Given the description of an element on the screen output the (x, y) to click on. 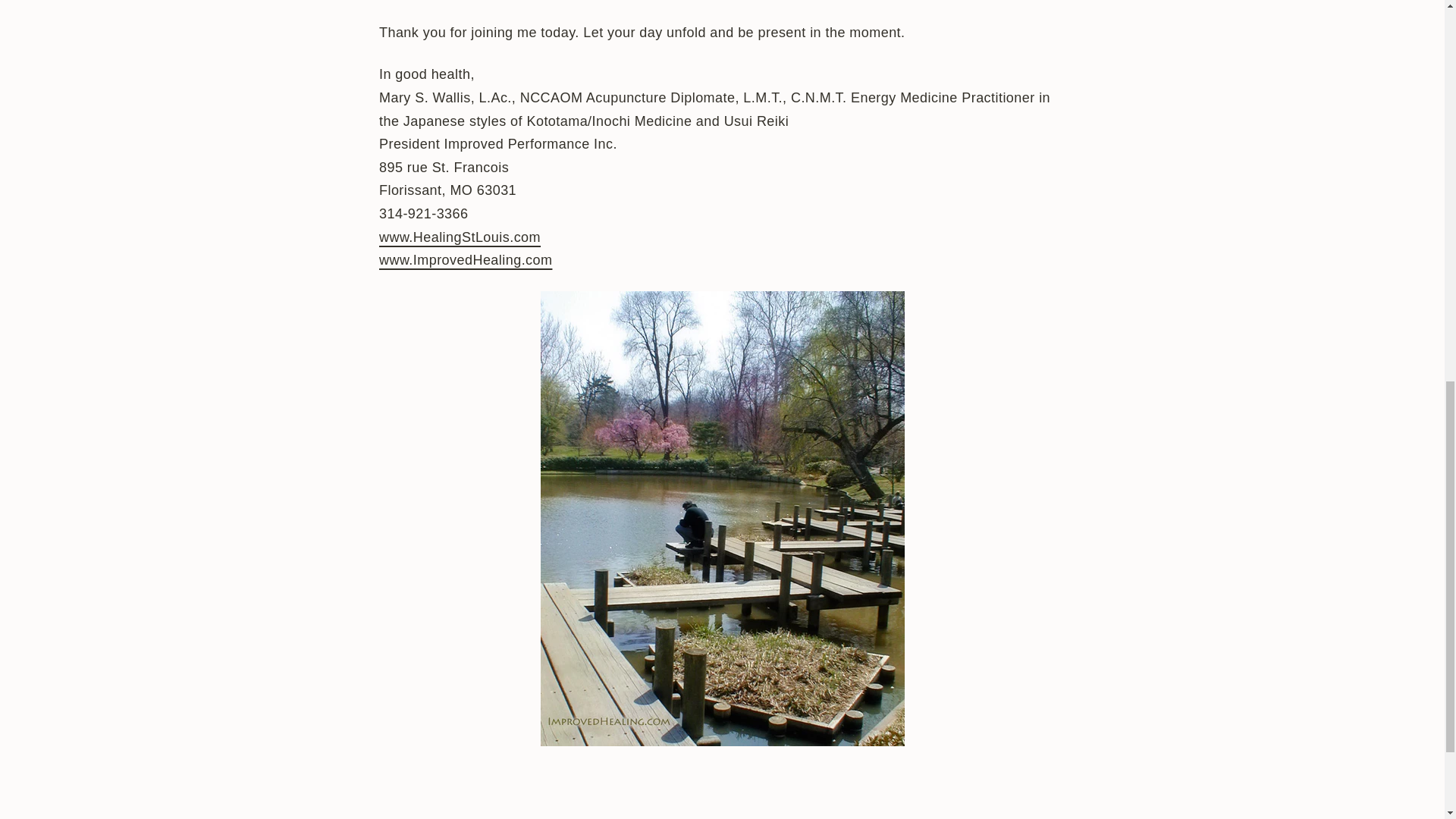
www.healingstlouis.com (459, 237)
www.HealingStLouis.com (459, 237)
www.ImprovedHealing.com (464, 259)
ICON-HAMBURGER (130, 47)
www.ImprovedHealing.com (464, 259)
ICON-HAMBURGER MENU (162, 46)
